Given the description of an element on the screen output the (x, y) to click on. 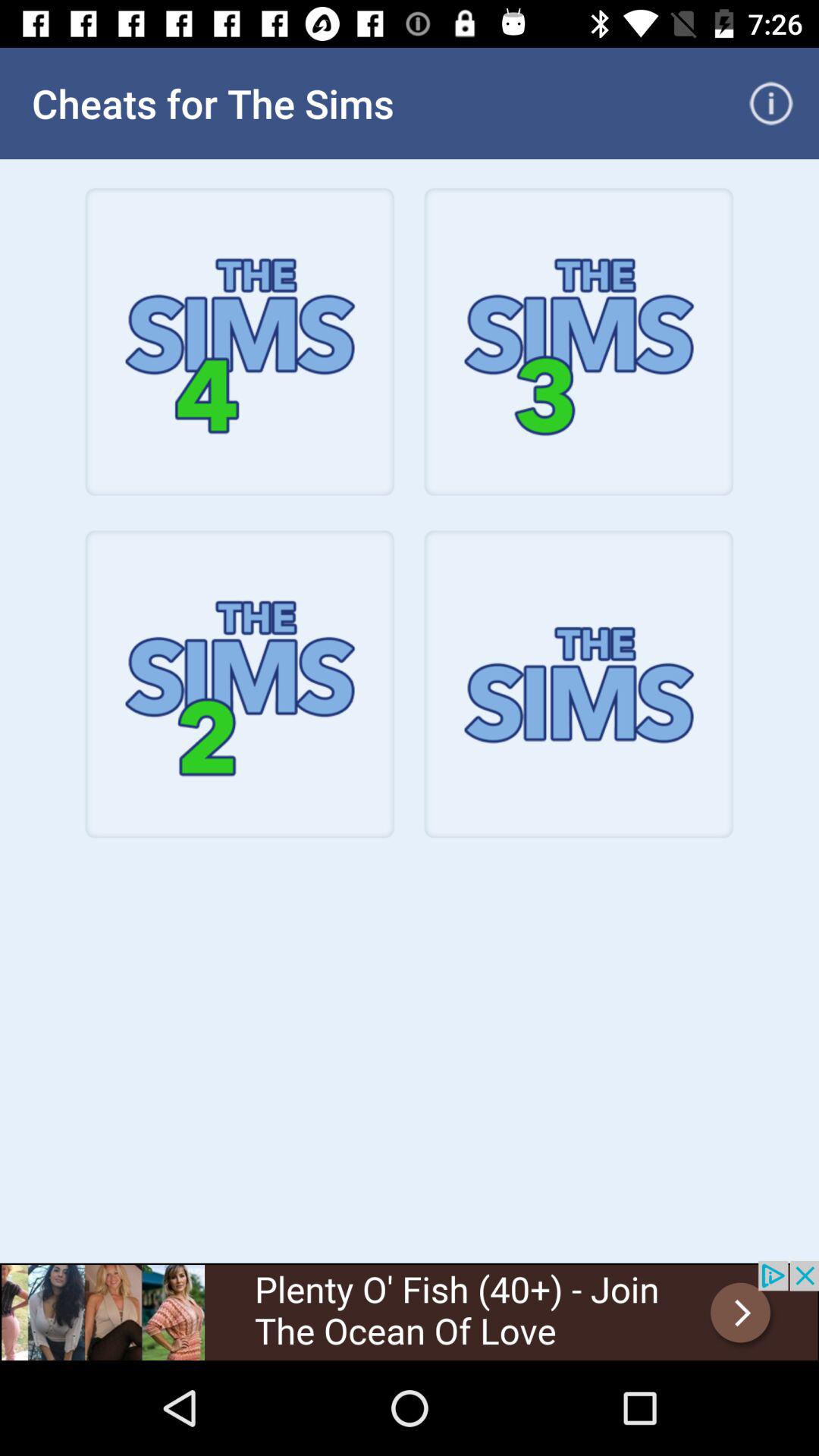
advertisement (409, 1310)
